Given the description of an element on the screen output the (x, y) to click on. 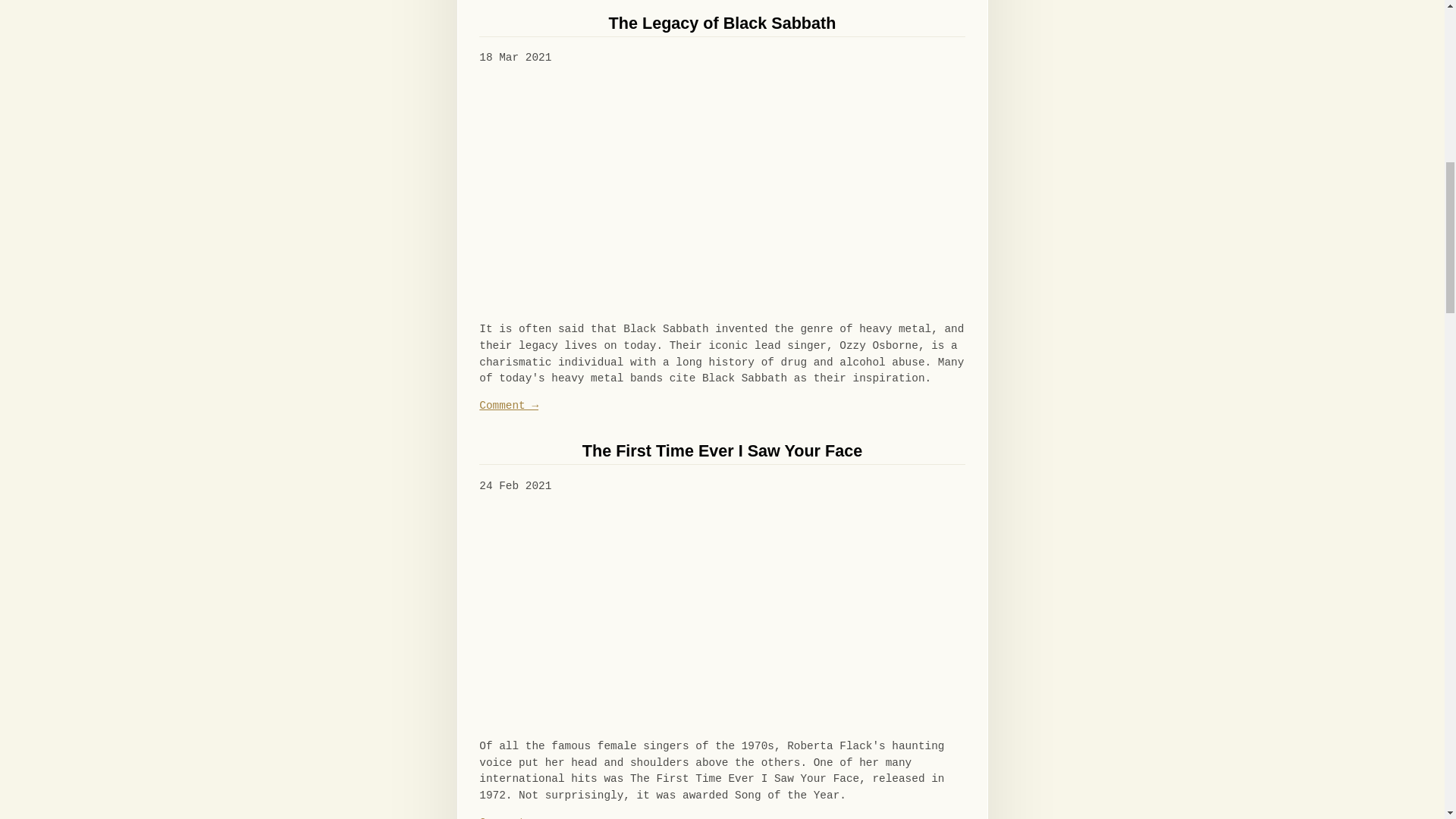
The First Time Ever I Saw Your Face (721, 450)
The Legacy of Black Sabbath (721, 22)
